Given the description of an element on the screen output the (x, y) to click on. 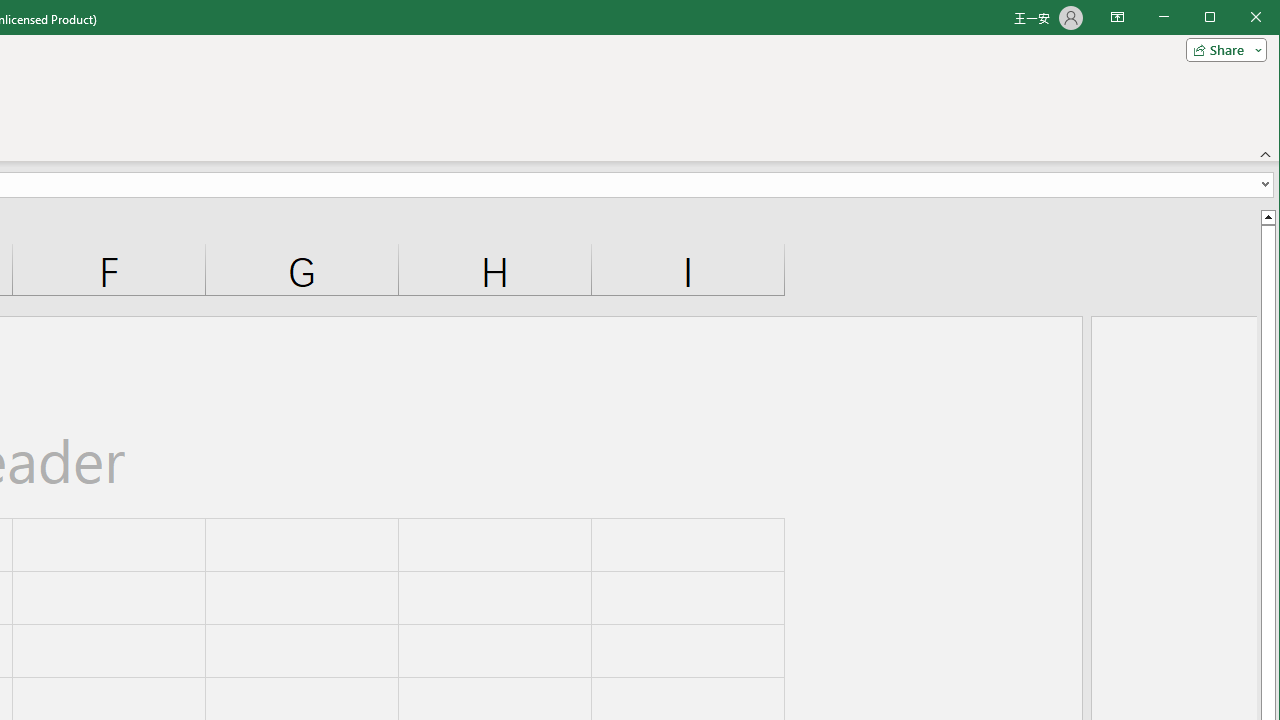
Maximize (1238, 18)
